Given the description of an element on the screen output the (x, y) to click on. 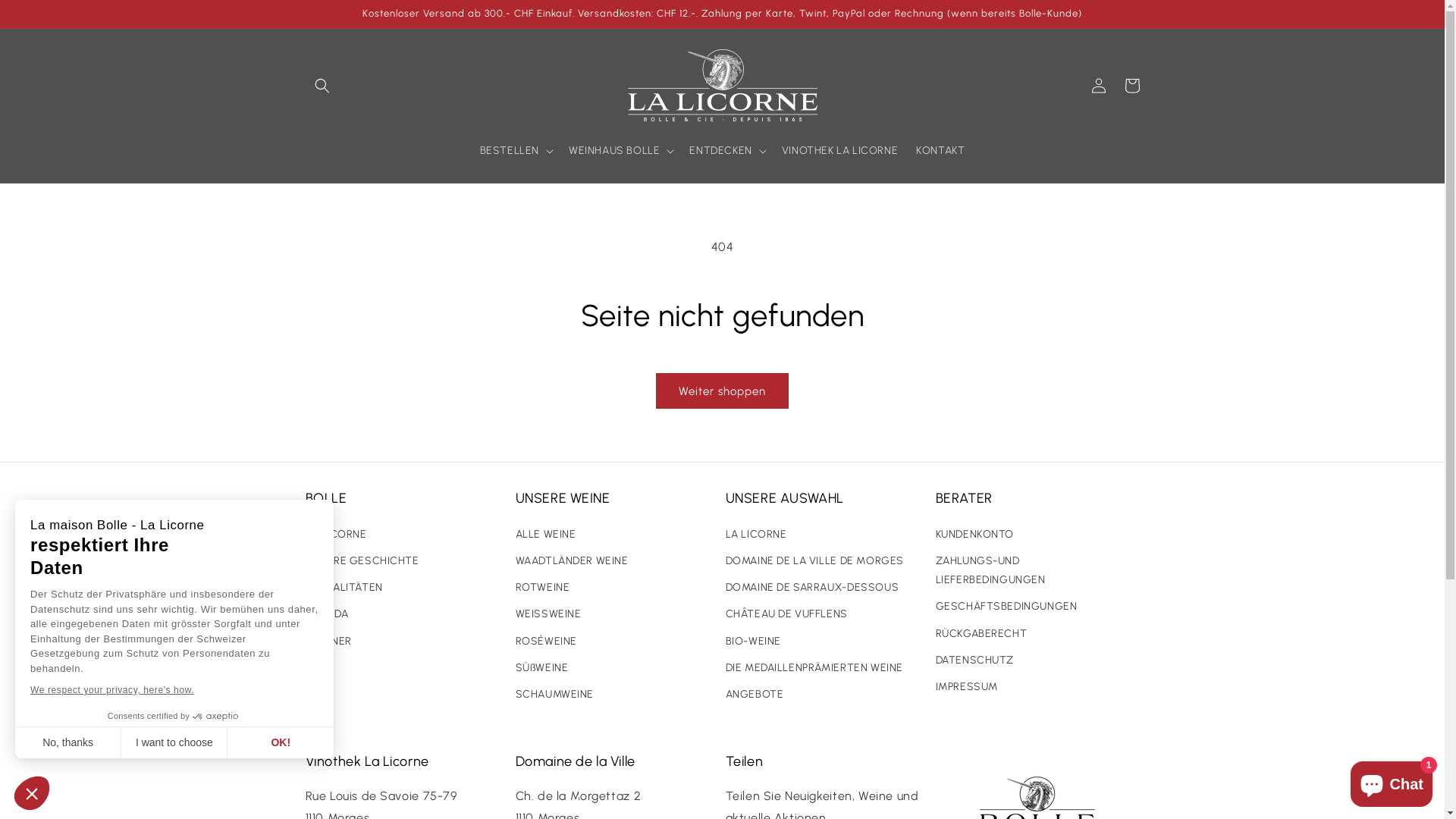
ZAHLUNGS-UND LIEFERBEDINGUNGEN Element type: text (1031, 570)
SCHAUMWEINE Element type: text (554, 693)
PARTNER Element type: text (327, 640)
Weiter shoppen Element type: text (721, 390)
LA LICORNE Element type: text (755, 535)
Warenkorb Element type: text (1131, 85)
Onlineshop-Chat von Shopify Element type: hover (1391, 780)
ANGEBOTE Element type: text (753, 693)
ALLE WEINE Element type: text (545, 535)
KONTAKT Element type: text (939, 150)
BIO-WEINE Element type: text (752, 640)
DOMAINE DE LA VILLE DE MORGES Element type: text (813, 560)
Einloggen Element type: text (1097, 85)
ROTWEINE Element type: text (542, 587)
VINOTHEK LA LICORNE Element type: text (839, 150)
KUNDENKONTO Element type: text (974, 535)
AGENDA Element type: text (326, 613)
UNSERE GESCHICHTE Element type: text (361, 560)
LA LICORNE Element type: text (335, 535)
DATENSCHUTZ Element type: text (974, 659)
DOMAINE DE SARRAUX-DESSOUS Element type: text (811, 587)
WEISSWEINE Element type: text (548, 613)
IMPRESSUM Element type: text (966, 686)
